Given the description of an element on the screen output the (x, y) to click on. 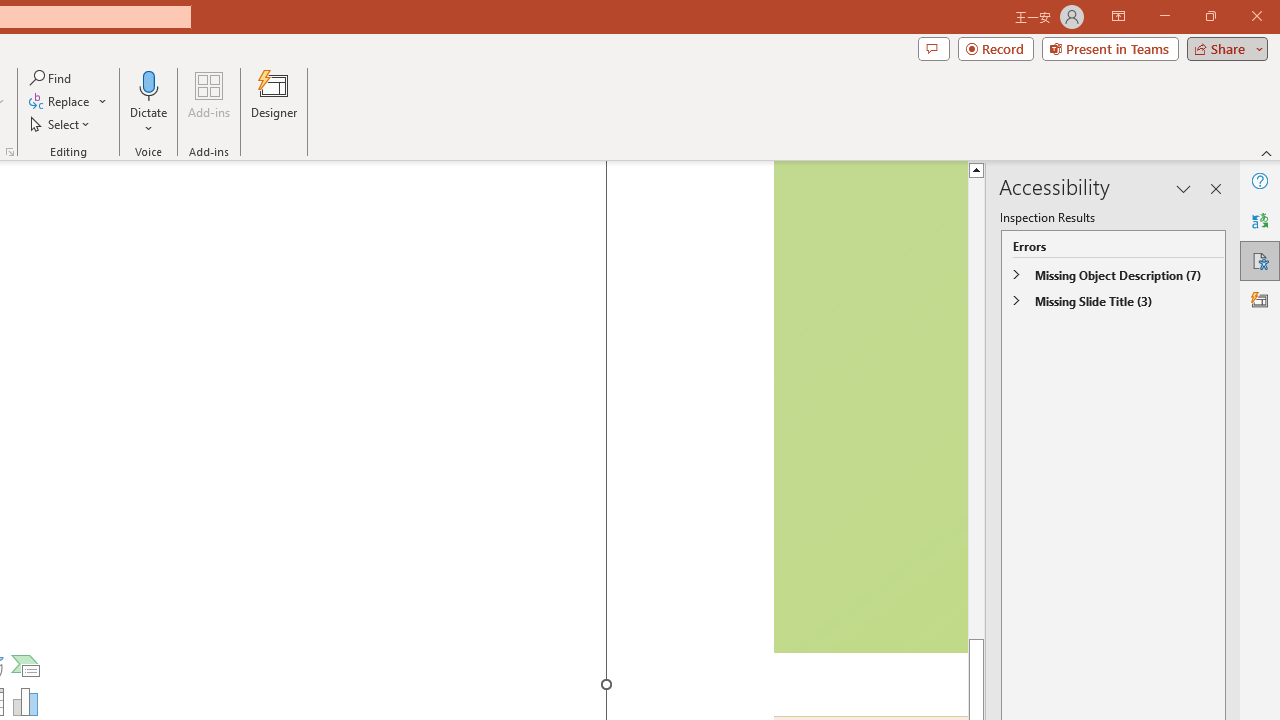
Camera 5, No camera detected. (869, 407)
